Given the description of an element on the screen output the (x, y) to click on. 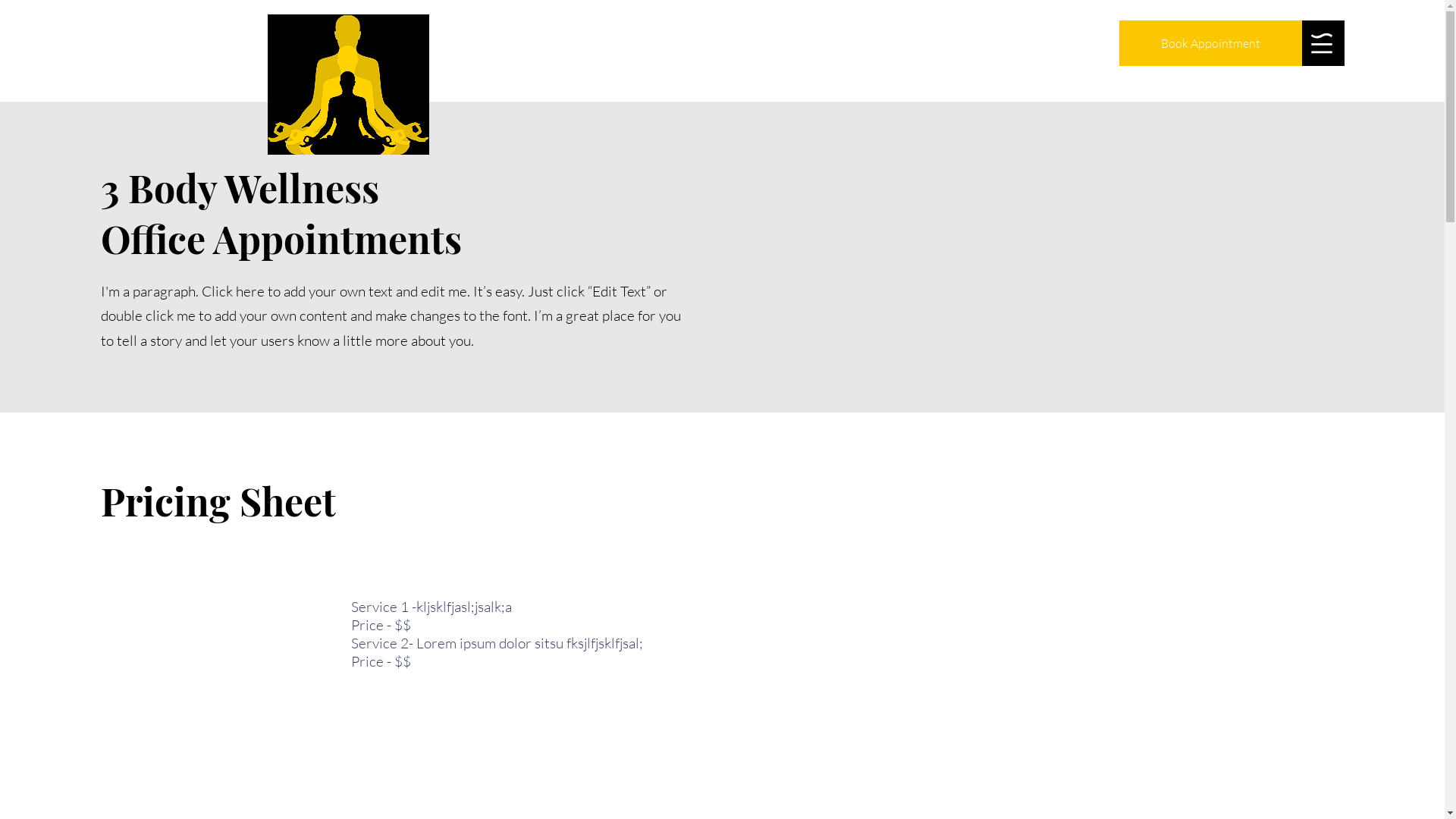
Book Appointment Element type: text (1210, 42)
